Given the description of an element on the screen output the (x, y) to click on. 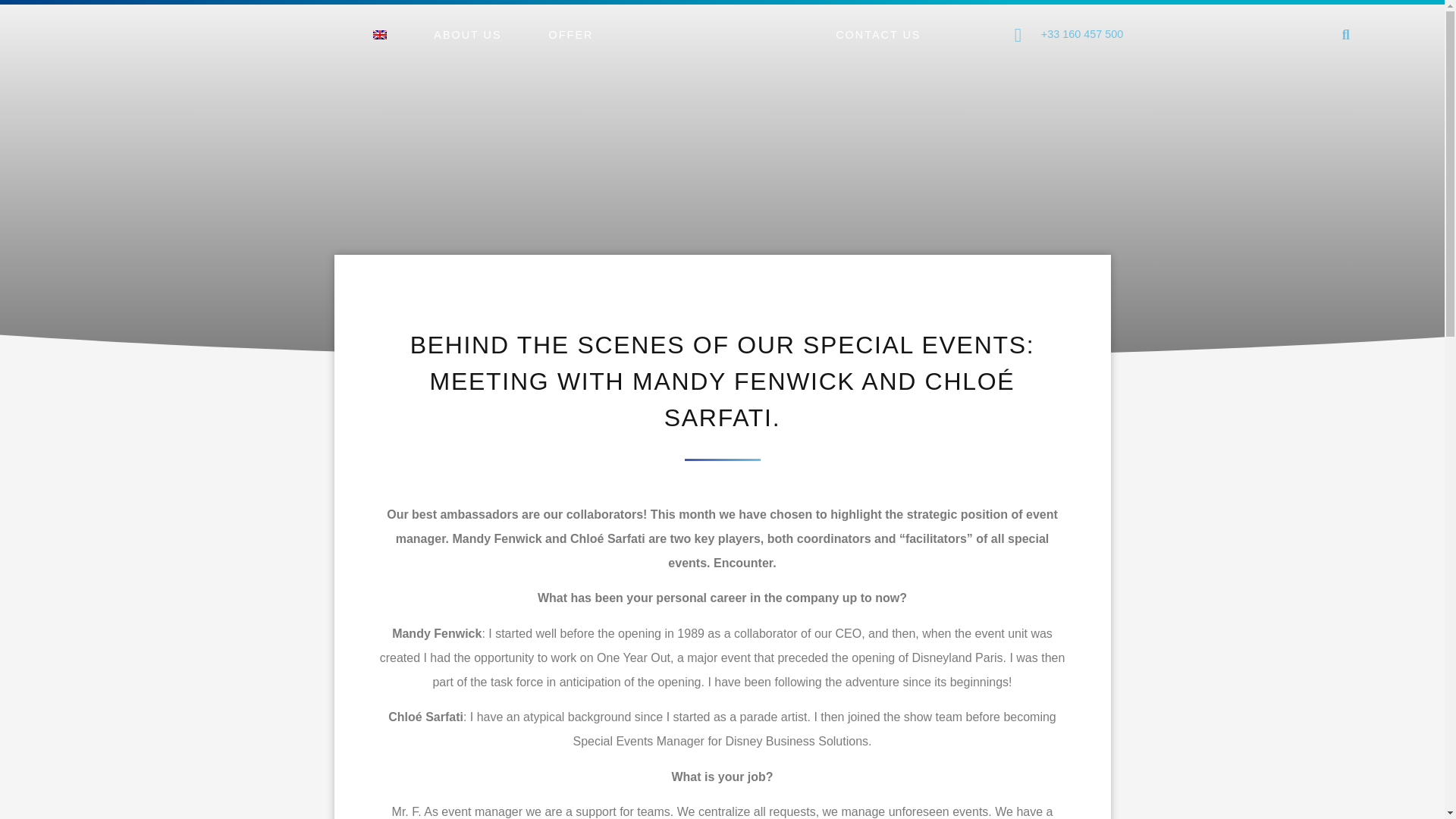
ABOUT US (467, 34)
OFFER (571, 34)
